Given the description of an element on the screen output the (x, y) to click on. 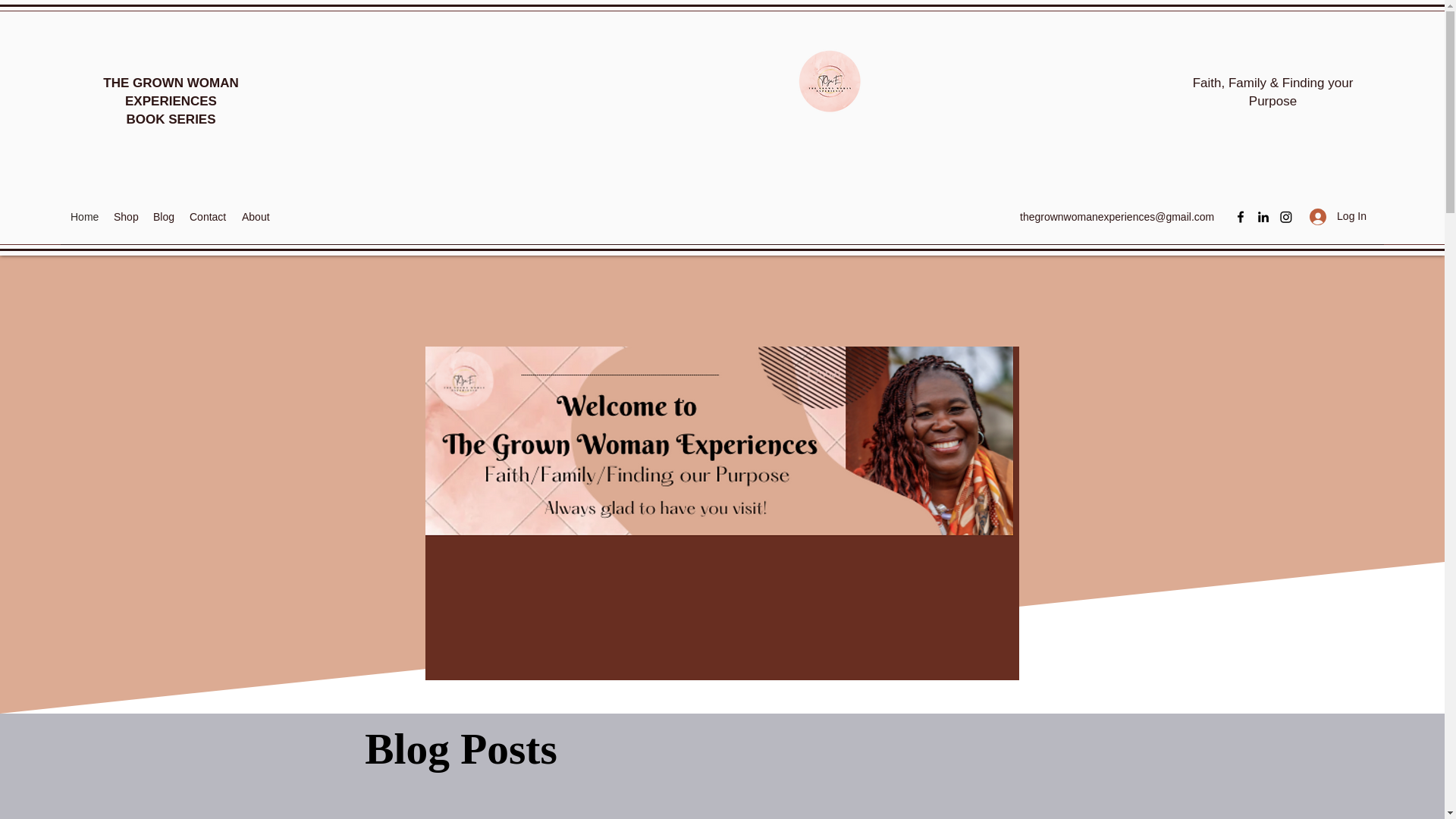
Blog (163, 216)
Home (84, 216)
About (256, 216)
Contact (459, 751)
Log In (208, 216)
Shop (1337, 216)
